Given the description of an element on the screen output the (x, y) to click on. 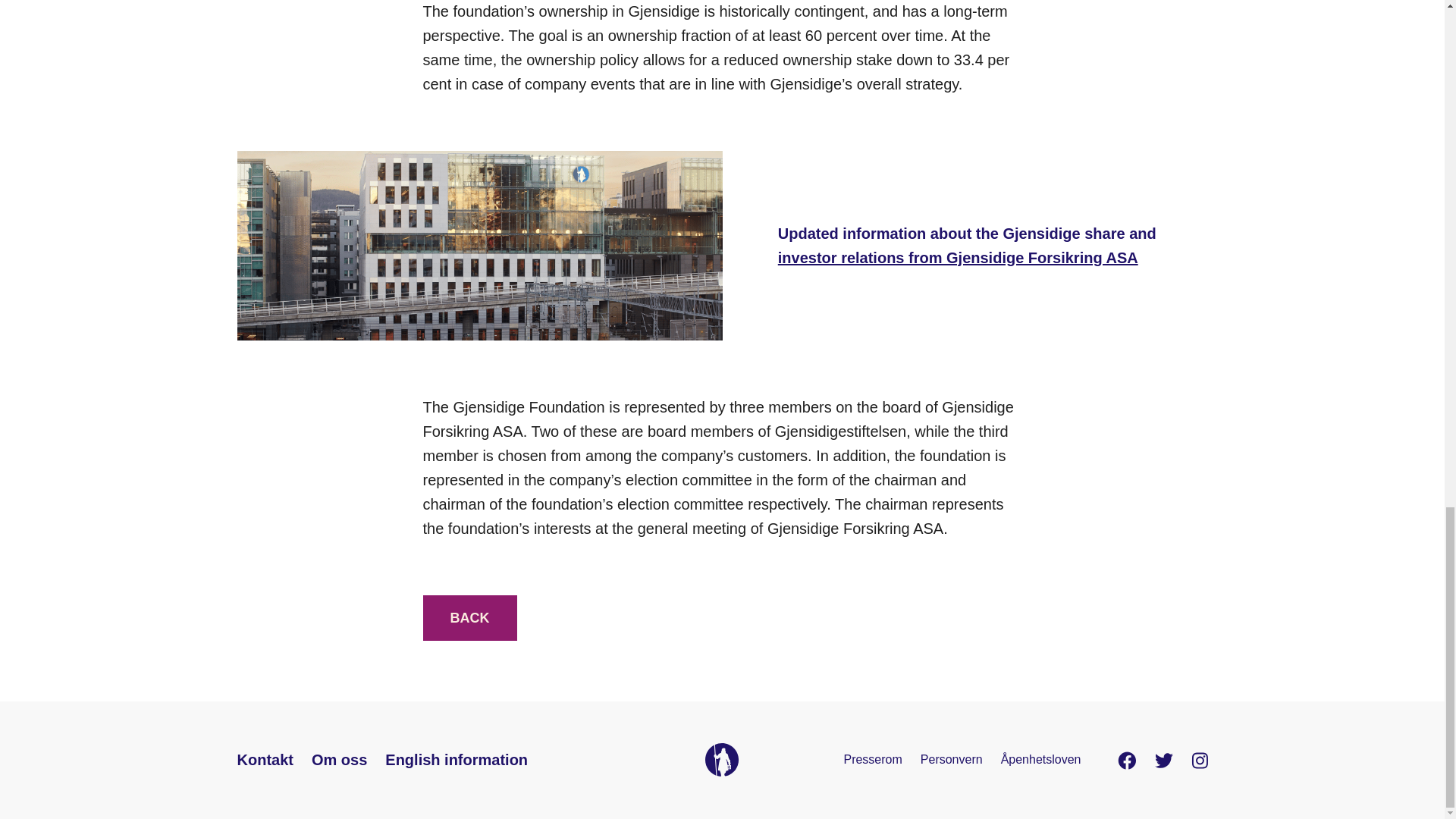
BACK (469, 617)
Kontakt (263, 759)
Personvern (951, 758)
Facebook (1127, 758)
Twitter (1163, 758)
investor relations from Gjensidige Forsikring ASA (957, 257)
Instagram (1199, 758)
English information (456, 759)
Facebook (1127, 758)
Presserom (872, 758)
Om oss (338, 759)
Instagram (1199, 758)
Twitter (1163, 758)
